Given the description of an element on the screen output the (x, y) to click on. 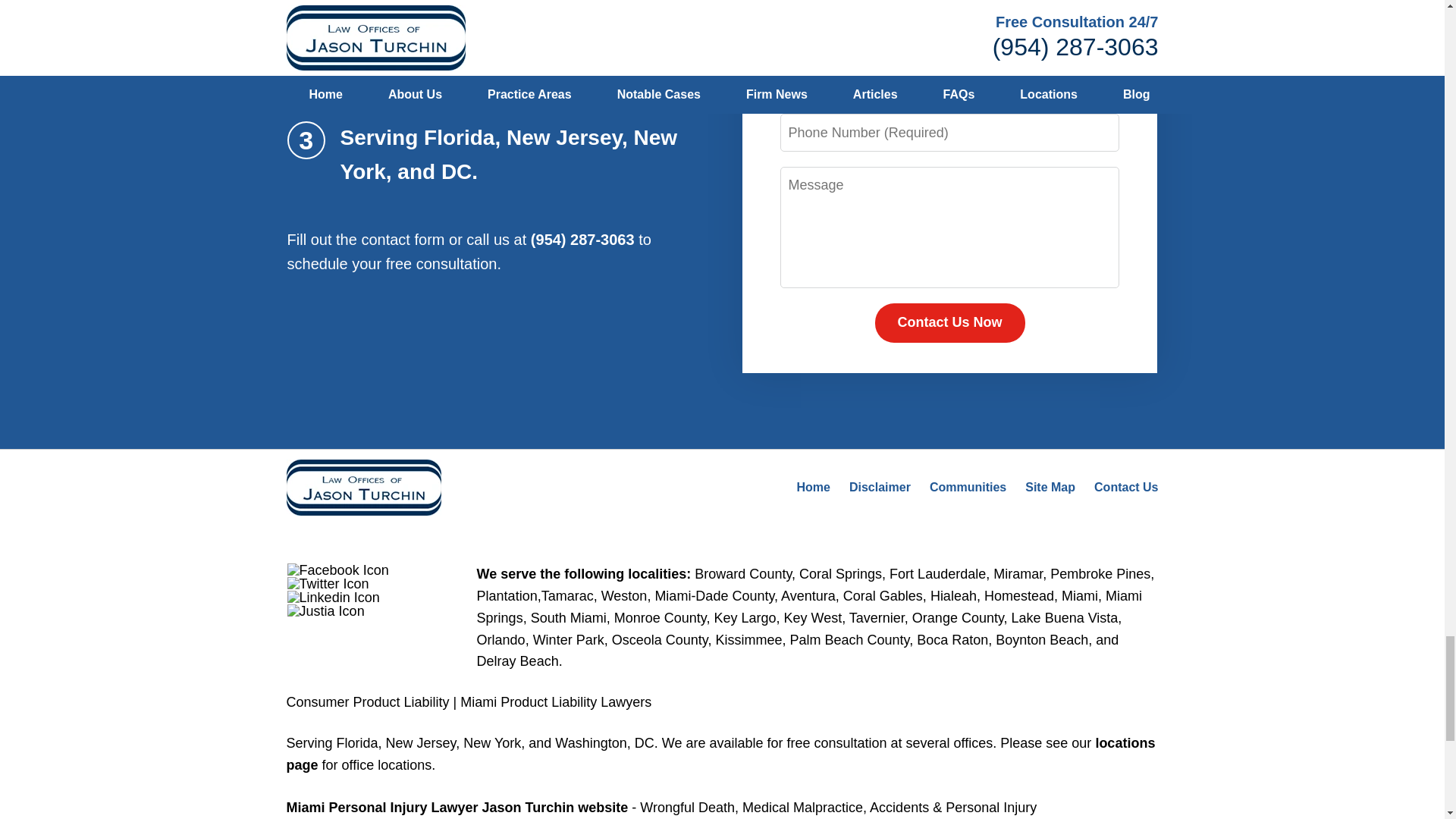
Twitter (327, 583)
Facebook (337, 570)
Justia (325, 611)
Linkedin (333, 597)
